Given the description of an element on the screen output the (x, y) to click on. 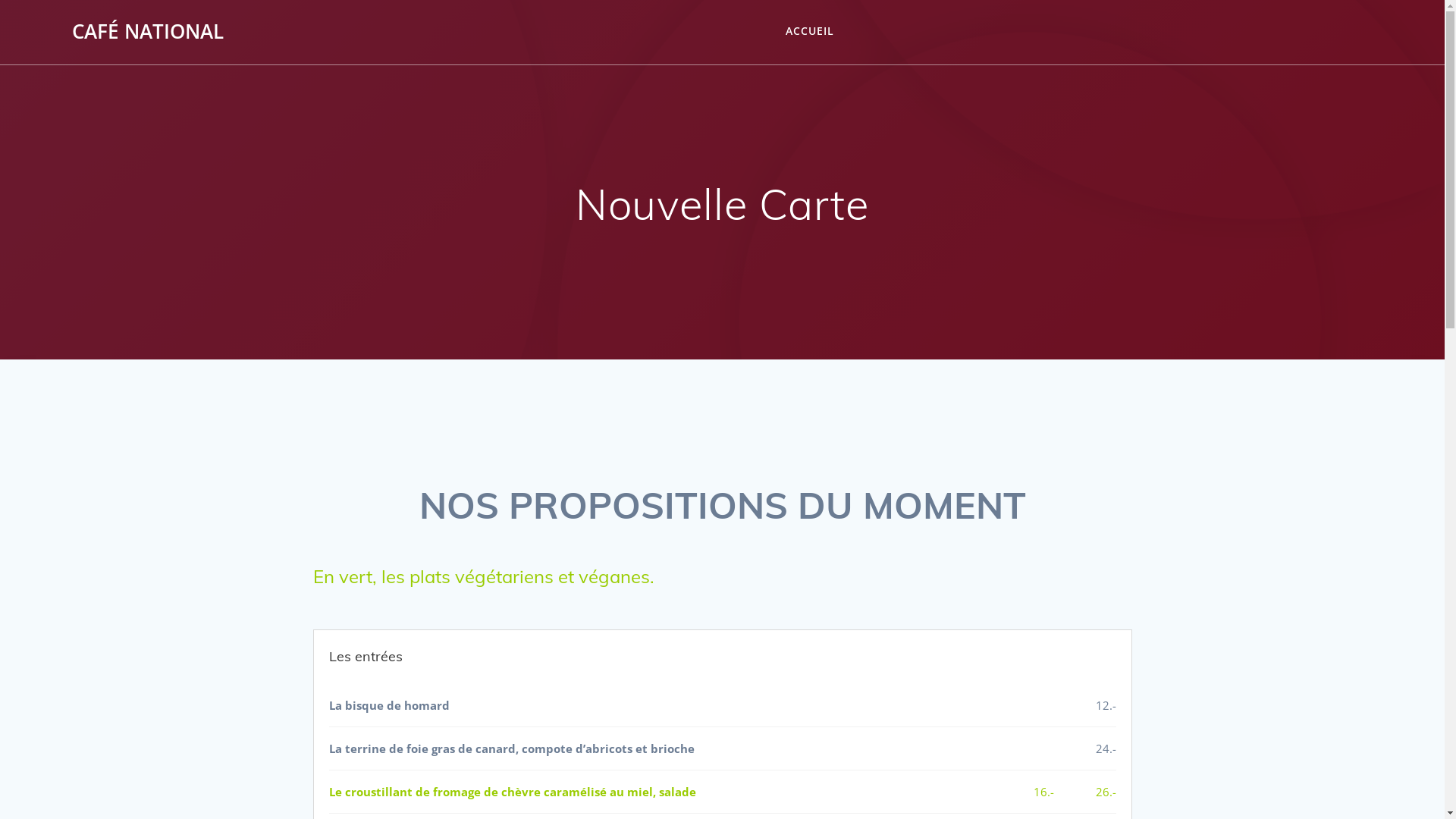
ACCUEIL Element type: text (809, 31)
